Given the description of an element on the screen output the (x, y) to click on. 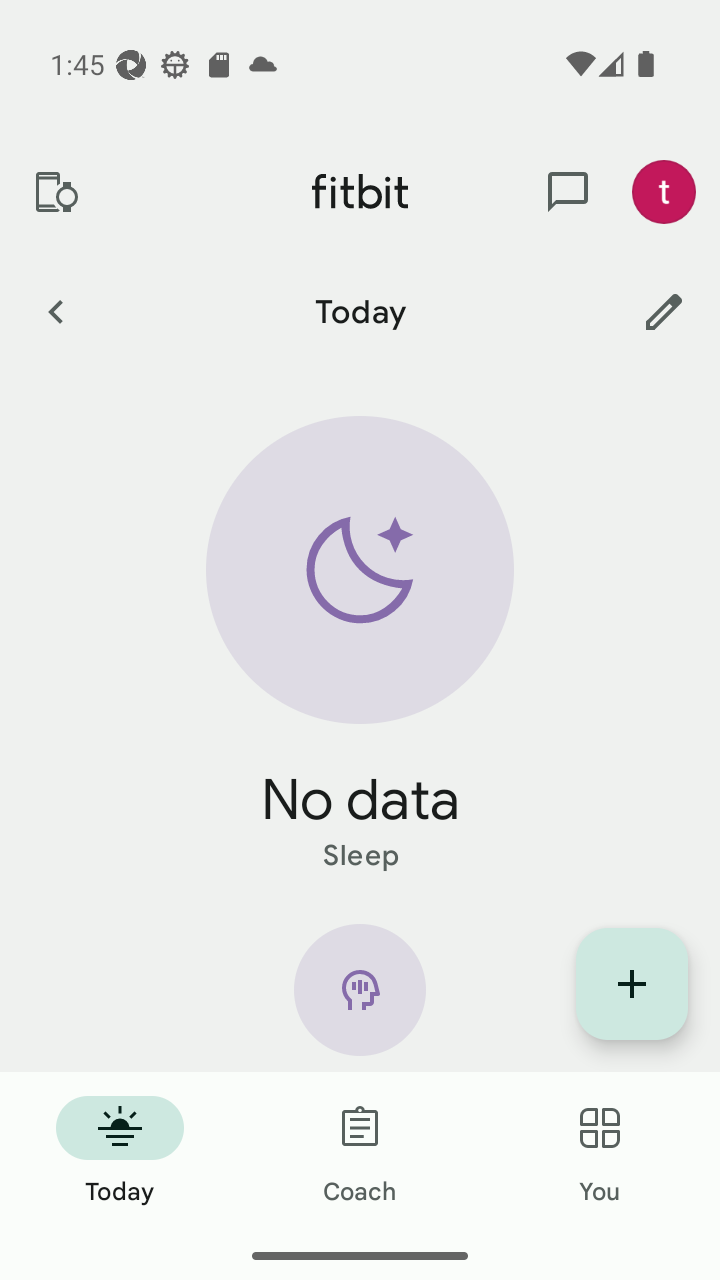
Devices and apps (55, 191)
messages and notifications (567, 191)
Previous Day (55, 311)
Customize (664, 311)
Sleep static hero arc No data Sleep (359, 645)
Mindfulness icon (360, 998)
Display list of quick log entries (632, 983)
Coach (359, 1151)
You (600, 1151)
